Given the description of an element on the screen output the (x, y) to click on. 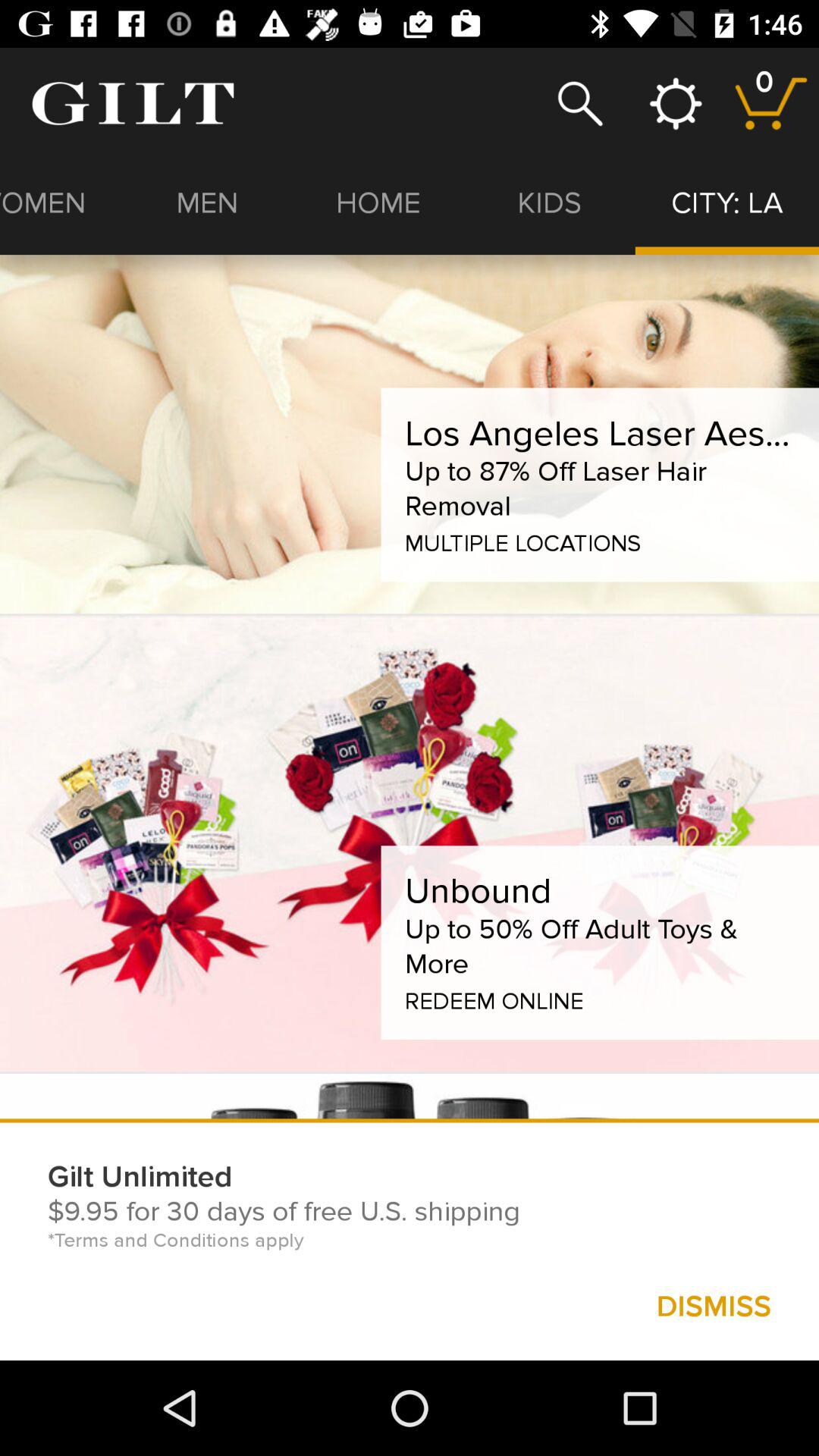
choose the unbound item (477, 890)
